Given the description of an element on the screen output the (x, y) to click on. 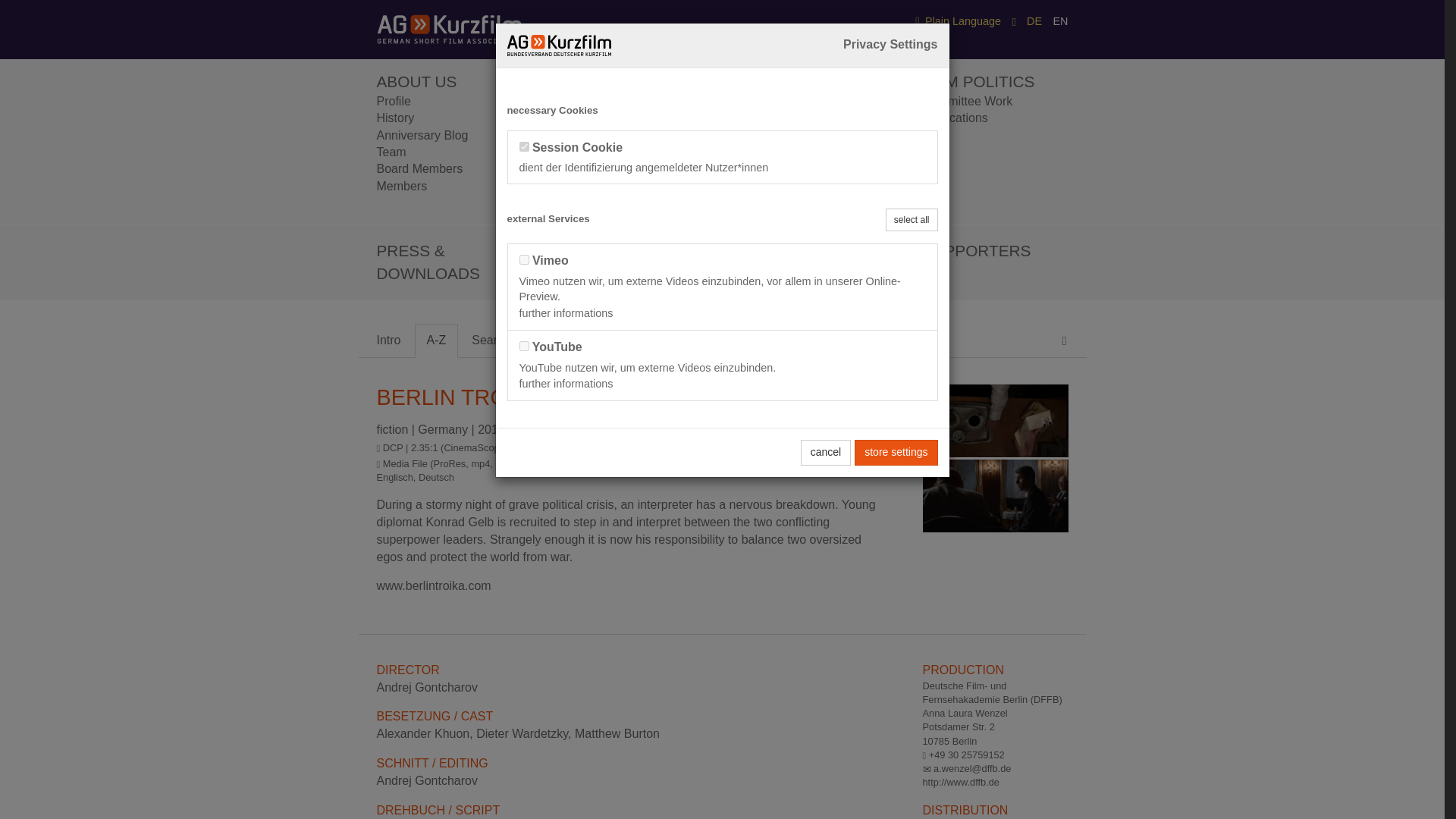
A-Z (436, 340)
SUPPORTERS (975, 250)
BERLIN TROIKA  (994, 421)
for Filmmakers (780, 101)
... at Festivals (595, 118)
History (394, 117)
DE (1034, 21)
1 (523, 346)
Profile (392, 101)
1 (523, 259)
